Given the description of an element on the screen output the (x, y) to click on. 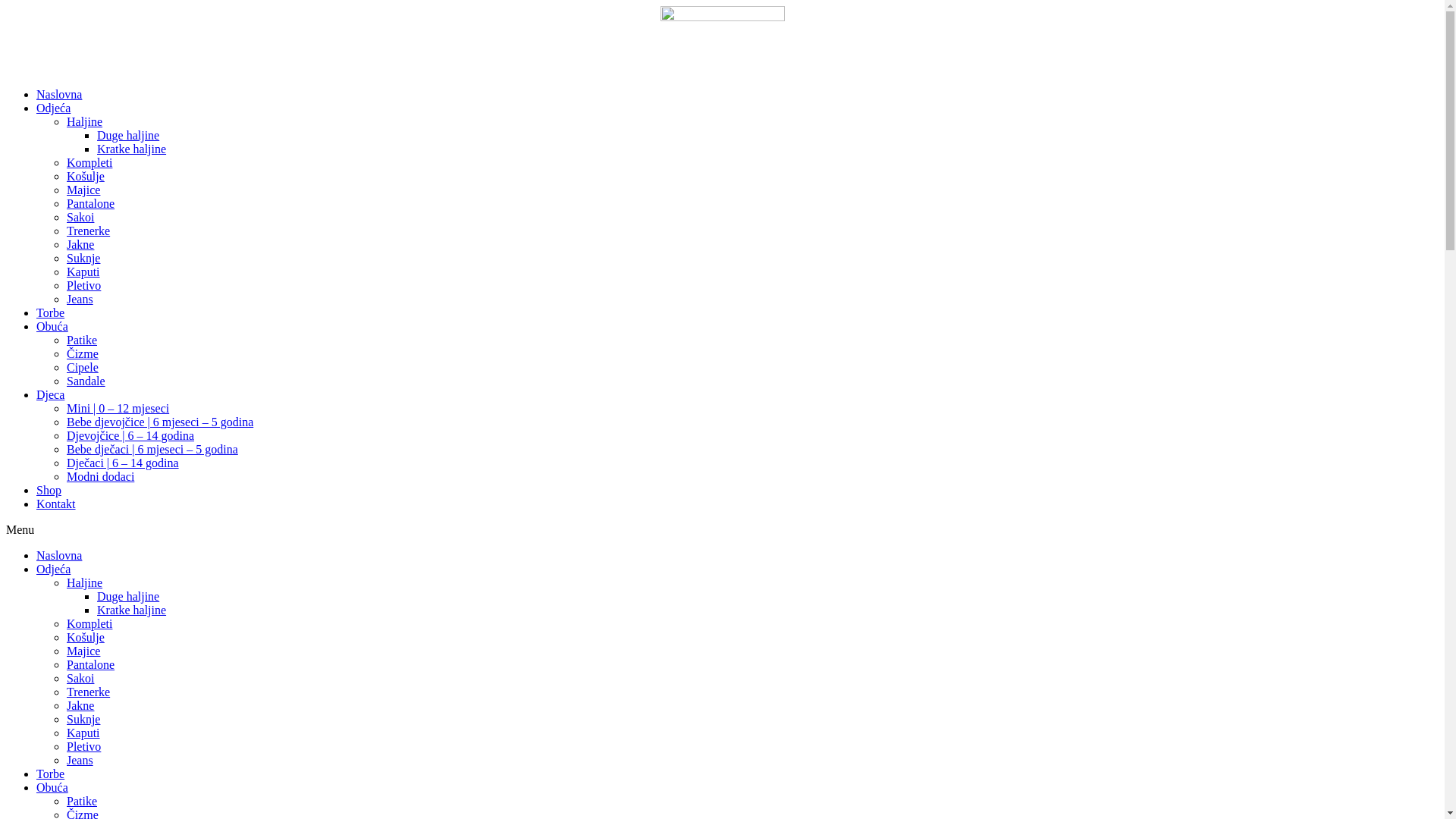
Naslovna Element type: text (58, 93)
Pantalone Element type: text (90, 664)
Sandale Element type: text (85, 380)
Kontakt Element type: text (55, 503)
Jakne Element type: text (80, 244)
Jakne Element type: text (80, 705)
Kaputi Element type: text (83, 271)
Torbe Element type: text (50, 312)
Torbe Element type: text (50, 773)
Naslovna Element type: text (58, 555)
Haljine Element type: text (84, 121)
Haljine Element type: text (84, 582)
Suknje Element type: text (83, 718)
Patike Element type: text (81, 800)
Duge haljine Element type: text (128, 595)
Suknje Element type: text (83, 257)
Jeans Element type: text (79, 298)
Modni dodaci Element type: text (100, 476)
Kratke haljine Element type: text (131, 609)
Kaputi Element type: text (83, 732)
Pantalone Element type: text (90, 203)
Patike Element type: text (81, 339)
Kompleti Element type: text (89, 162)
Djeca Element type: text (50, 394)
Duge haljine Element type: text (128, 134)
Sakoi Element type: text (80, 677)
Jeans Element type: text (79, 759)
Trenerke Element type: text (87, 691)
Pletivo Element type: text (83, 285)
Sakoi Element type: text (80, 216)
Kratke haljine Element type: text (131, 148)
Pletivo Element type: text (83, 746)
Majice Element type: text (83, 650)
Trenerke Element type: text (87, 230)
Majice Element type: text (83, 189)
Kompleti Element type: text (89, 623)
Shop Element type: text (48, 489)
Cipele Element type: text (82, 366)
